Given the description of an element on the screen output the (x, y) to click on. 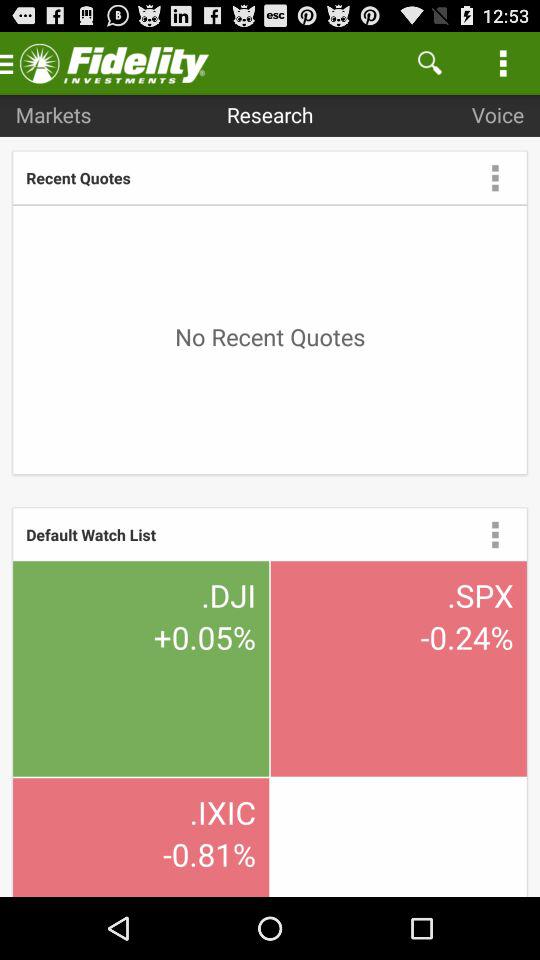
click the markets app (53, 114)
